Given the description of an element on the screen output the (x, y) to click on. 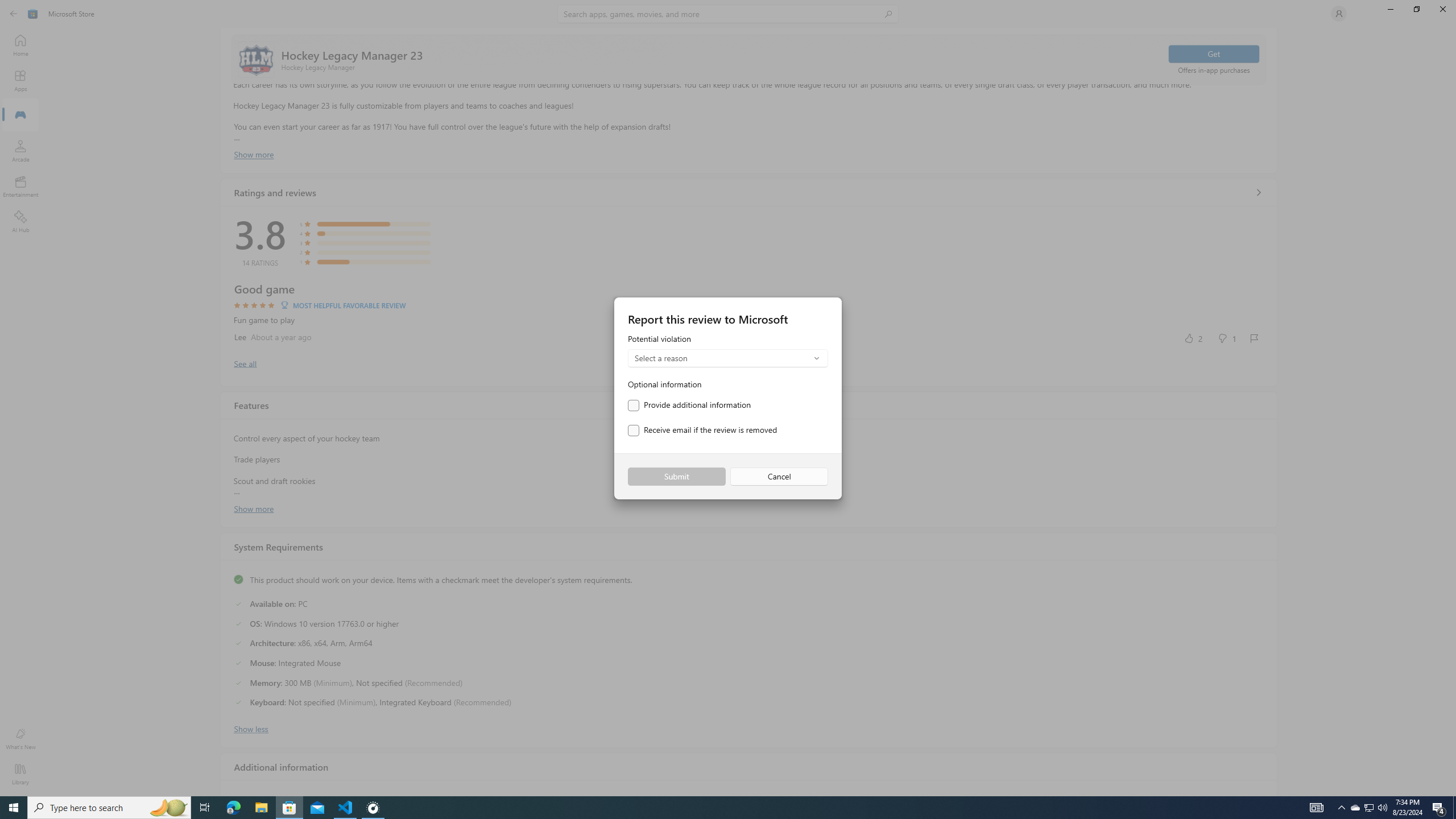
Show more (253, 507)
Yes, this was helpful. 2 votes. (1192, 338)
Get (1213, 53)
Minimize Microsoft Store (1390, 9)
Submit (676, 476)
Review by Lee. Rated 5 out of five stars. Good game. (748, 313)
Scroll to top (748, 59)
Back (13, 13)
Restore Microsoft Store (1416, 9)
User profile (1338, 13)
AutomationID: NavigationControl (728, 398)
Potential violation (727, 351)
Entertainment (20, 185)
Class: Image (32, 13)
Show all ratings and reviews (244, 362)
